Given the description of an element on the screen output the (x, y) to click on. 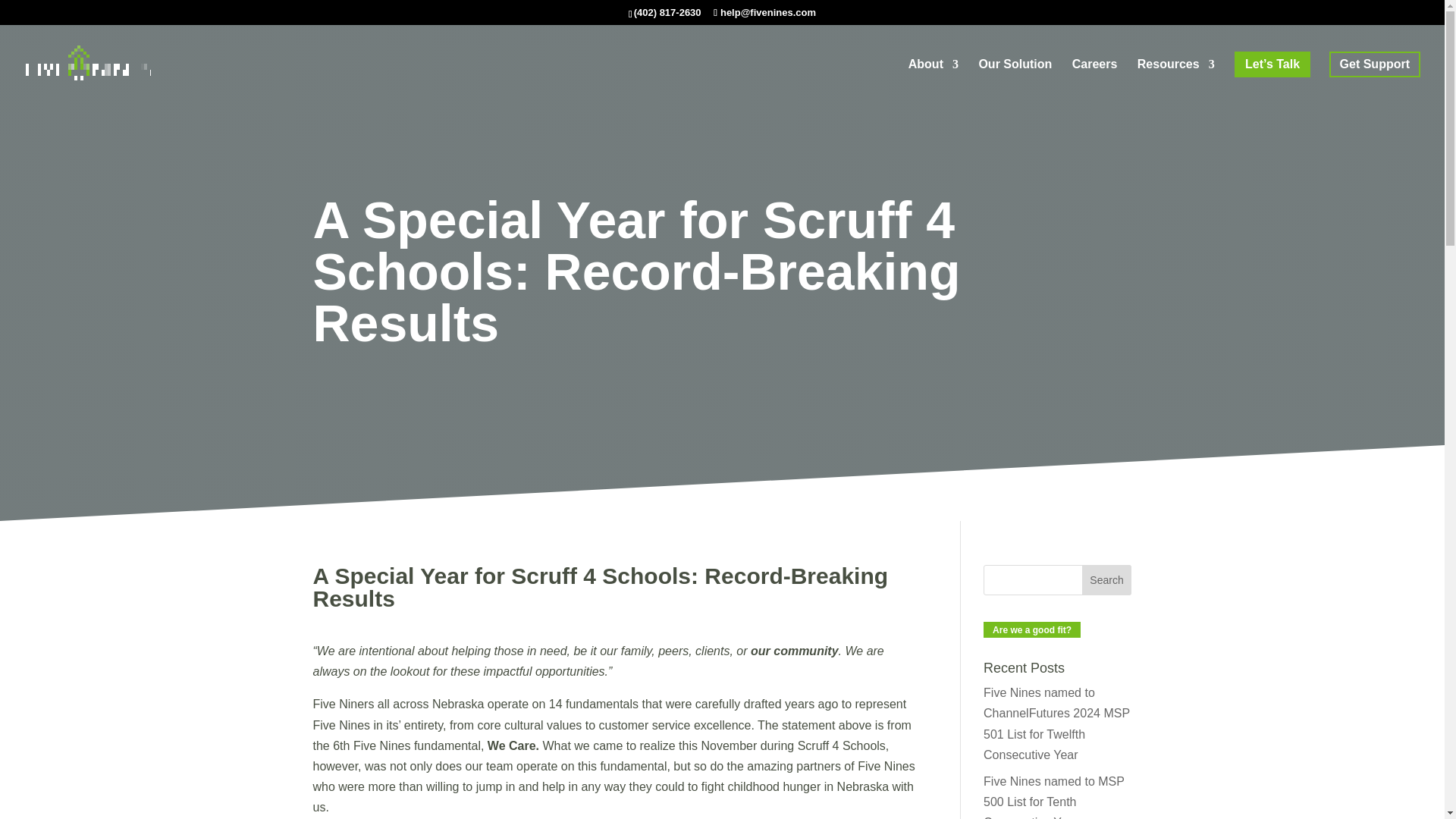
Careers (1094, 80)
Get Support (1375, 63)
Resources (1175, 80)
Are we a good fit? (1032, 629)
Search (1106, 580)
Search (1106, 580)
Our Solution (1014, 80)
About (933, 80)
Five Nines named to MSP 500 List for Tenth Consecutive Year (1054, 796)
